Given the description of an element on the screen output the (x, y) to click on. 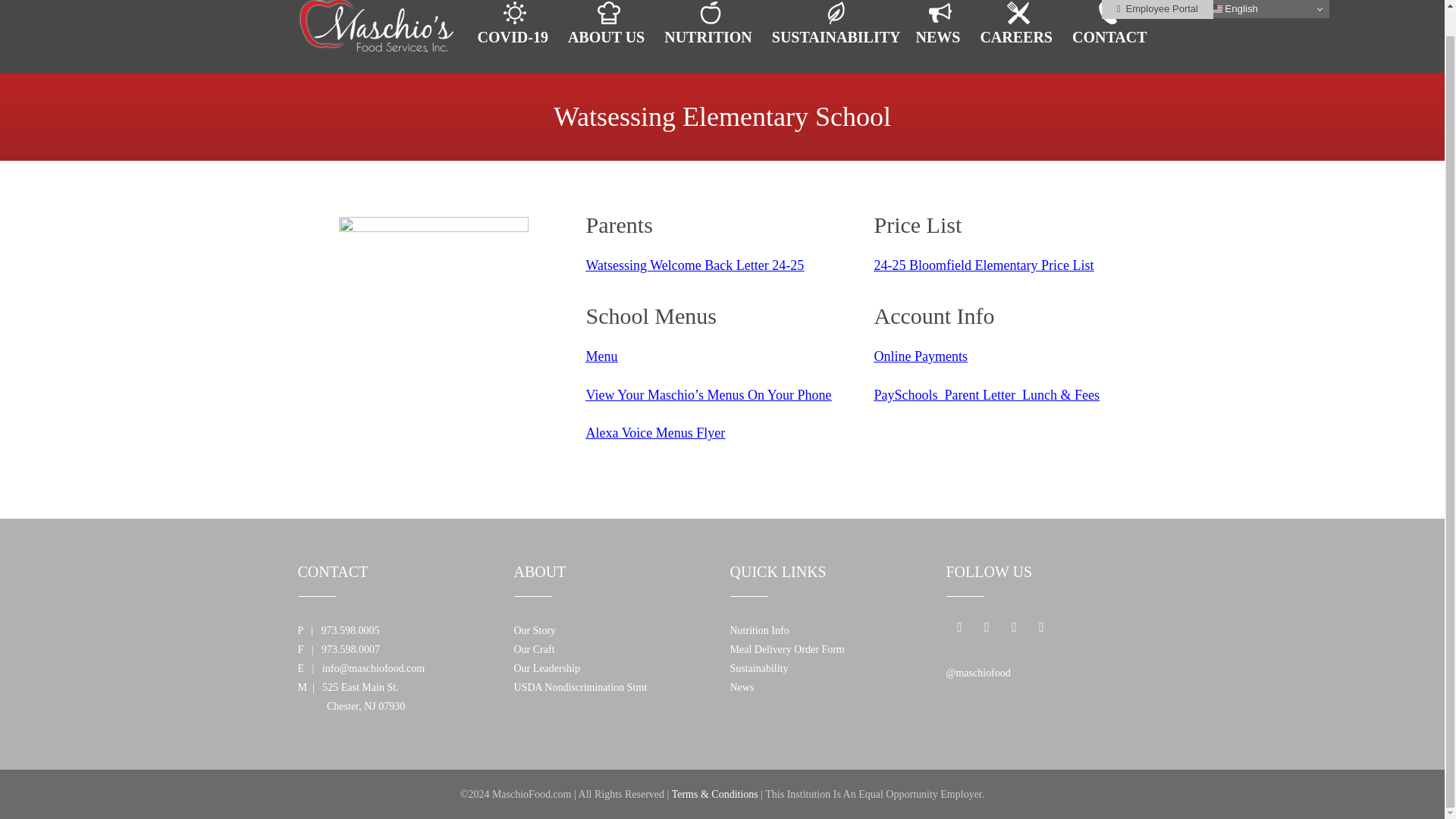
ABOUT US (608, 36)
Watsessing Welcome Back Letter 24-25 (694, 264)
NEWS (939, 36)
Menu (601, 355)
SUSTAINABILITY (836, 36)
COVID-19 (515, 36)
NUTRITION (710, 36)
Alexa Voice Menus Flyer (655, 432)
24-25 Bloomfield Elementary Price List (983, 264)
CAREERS (1018, 36)
CONTACT (1109, 36)
Online Payments (920, 355)
